Given the description of an element on the screen output the (x, y) to click on. 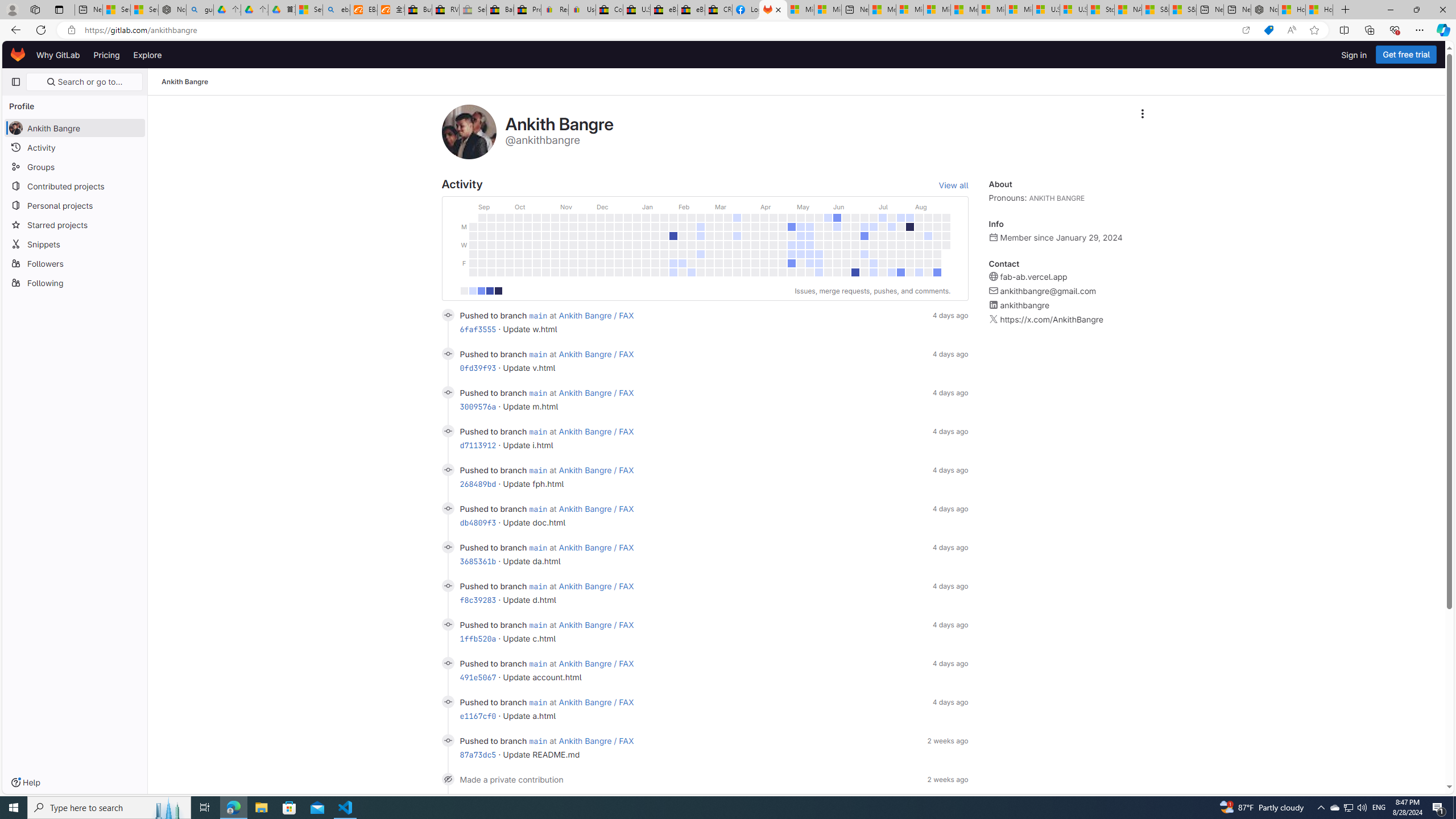
Personal projects (74, 205)
